Given the description of an element on the screen output the (x, y) to click on. 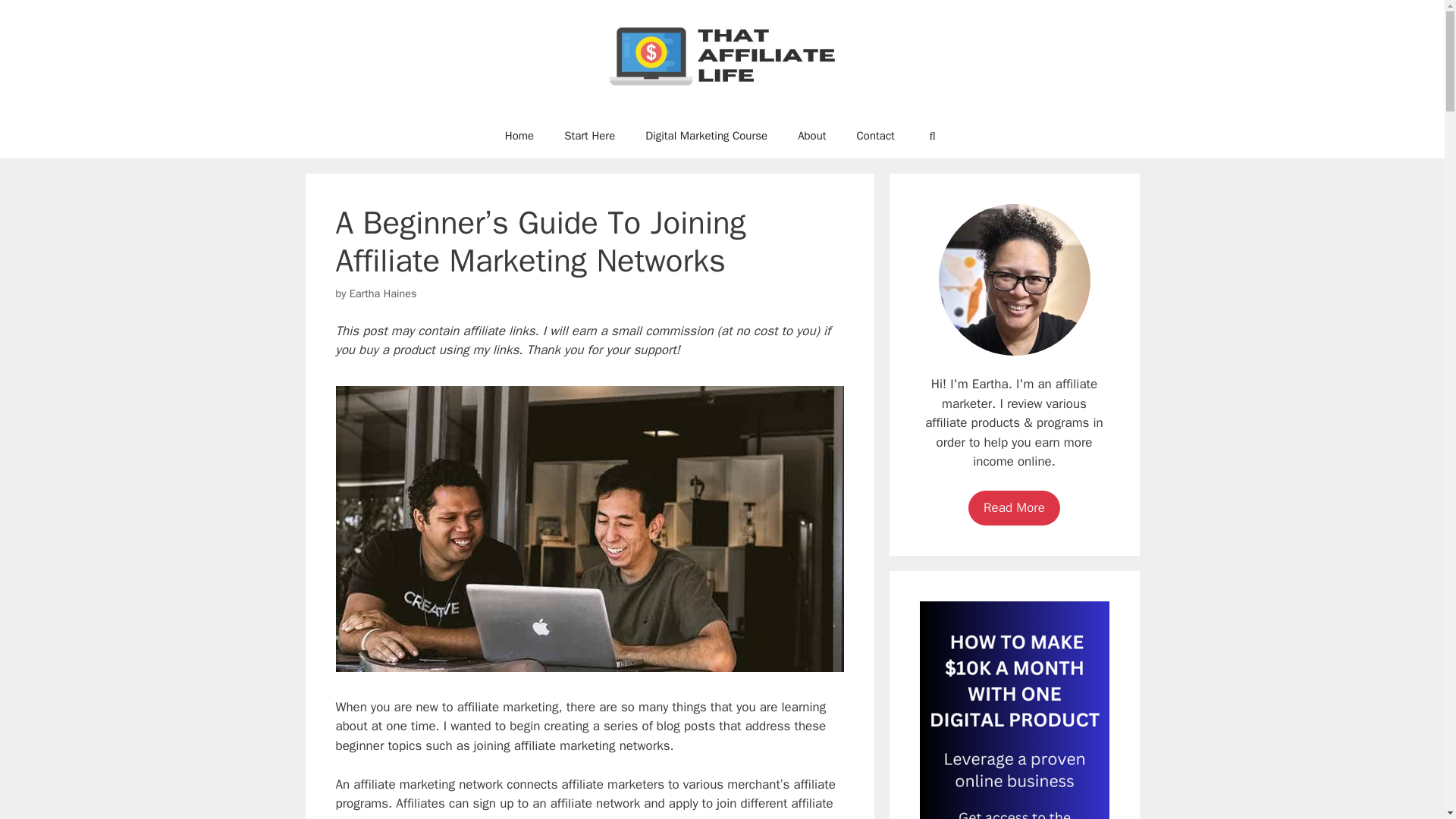
Home (518, 135)
View all posts by Eartha Haines (382, 293)
Start Here (589, 135)
Eartha Haines (382, 293)
Digital Marketing Course (706, 135)
Read More (1013, 507)
Contact (875, 135)
About (812, 135)
